Given the description of an element on the screen output the (x, y) to click on. 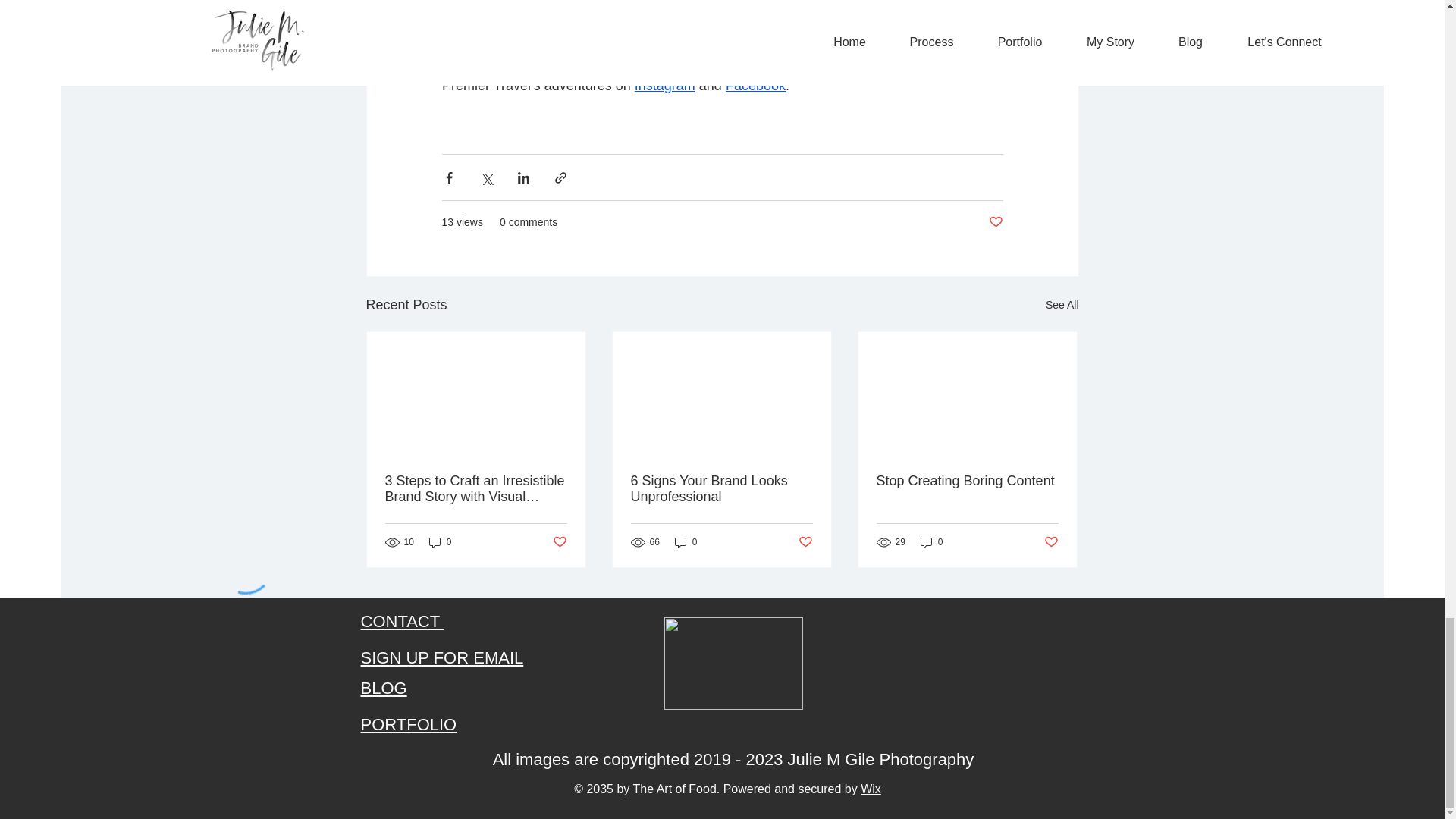
0 (685, 542)
0 (931, 542)
Post not marked as liked (995, 222)
6 Signs Your Brand Looks Unprofessional (721, 489)
Stop Creating Boring Content (967, 480)
Instagram (663, 85)
0 (440, 542)
Facebook (754, 85)
Post not marked as liked (558, 542)
